Given the description of an element on the screen output the (x, y) to click on. 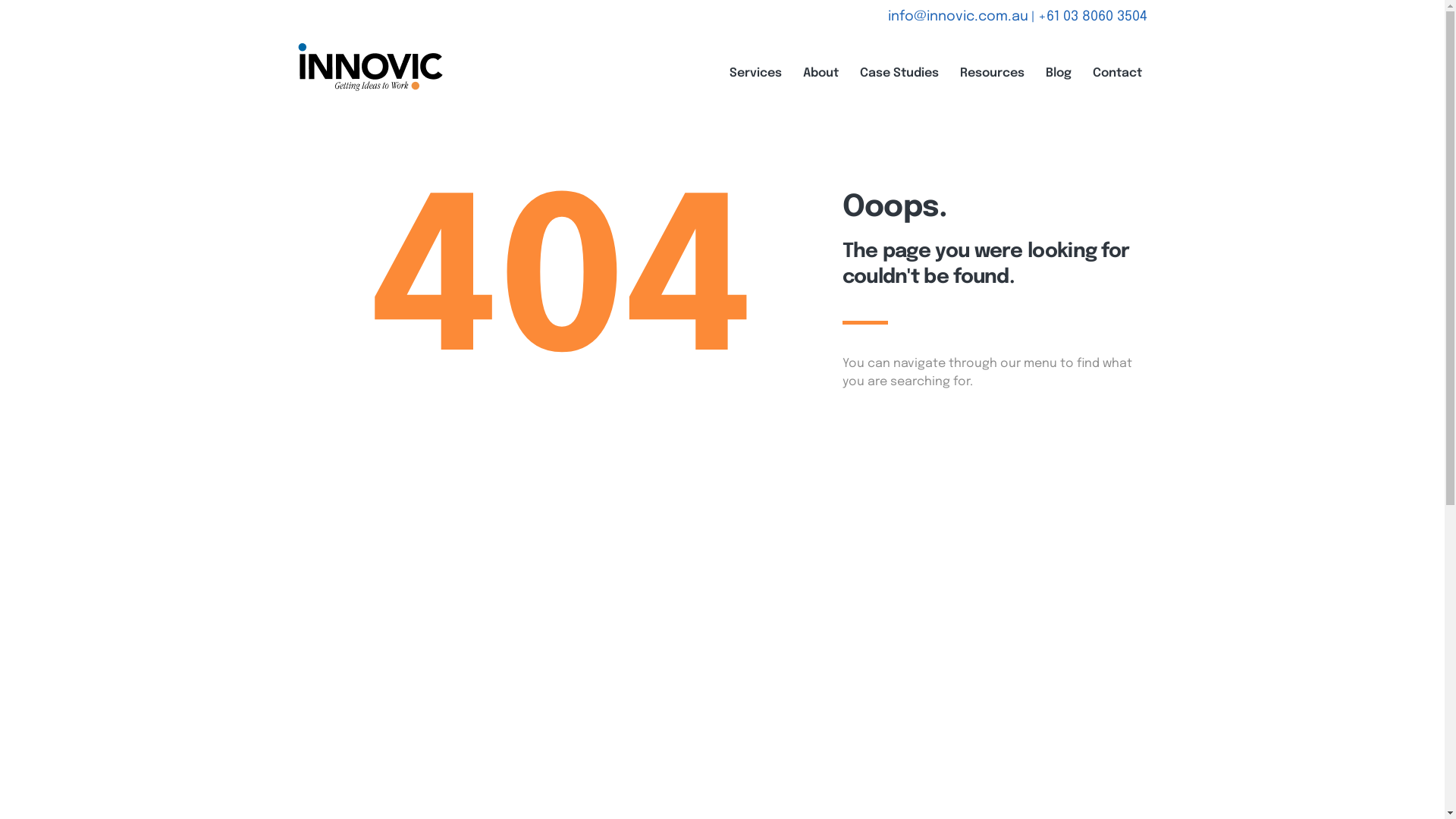
Resources Element type: text (992, 73)
Contact Element type: text (1117, 73)
info@innovic.com.au Element type: text (957, 16)
Services Element type: text (755, 73)
+61 03 8060 3504 Element type: text (1091, 16)
Blog Element type: text (1058, 73)
About Element type: text (820, 73)
Case Studies Element type: text (899, 73)
